Given the description of an element on the screen output the (x, y) to click on. 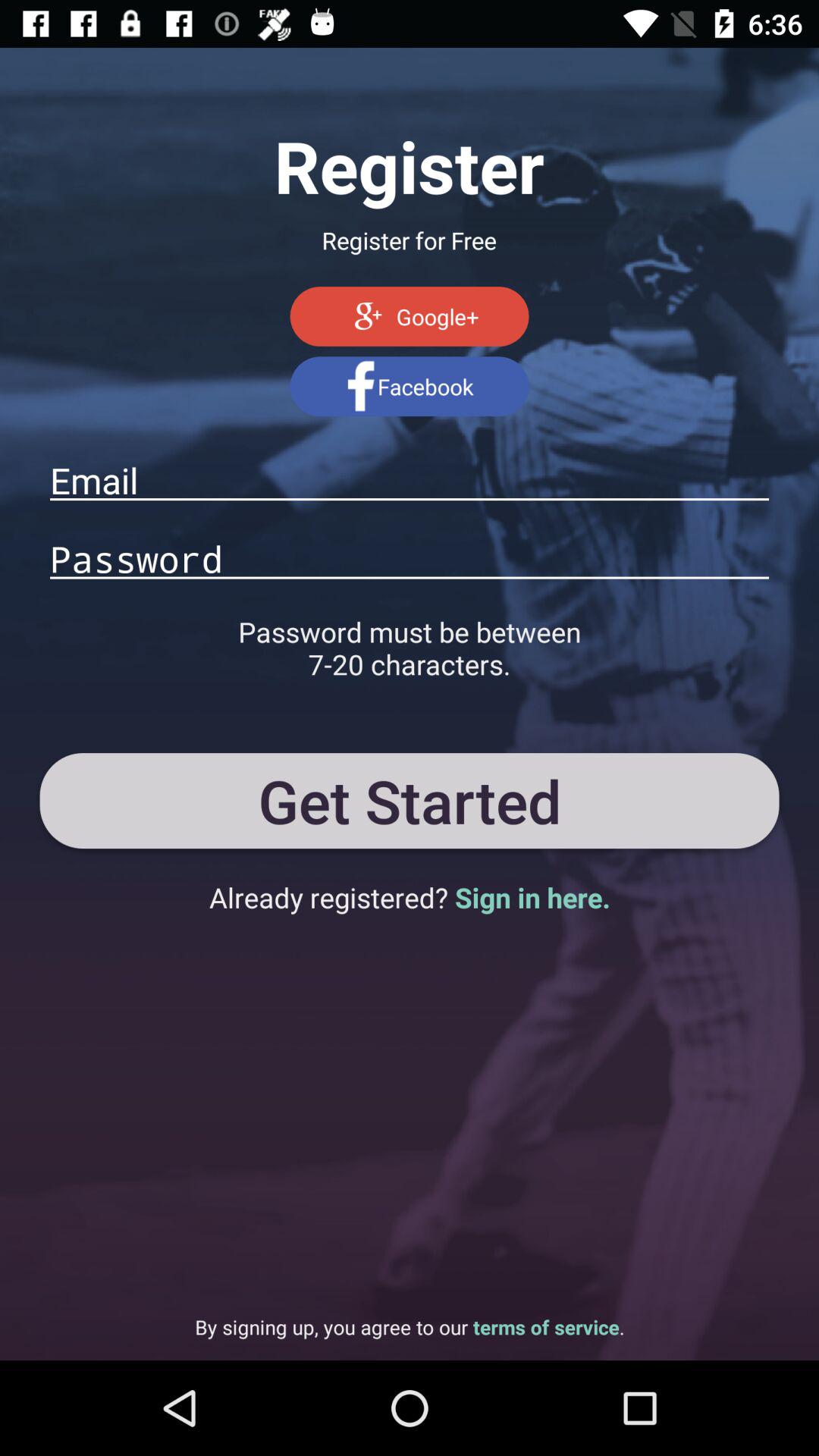
click the get started button (409, 800)
